Given the description of an element on the screen output the (x, y) to click on. 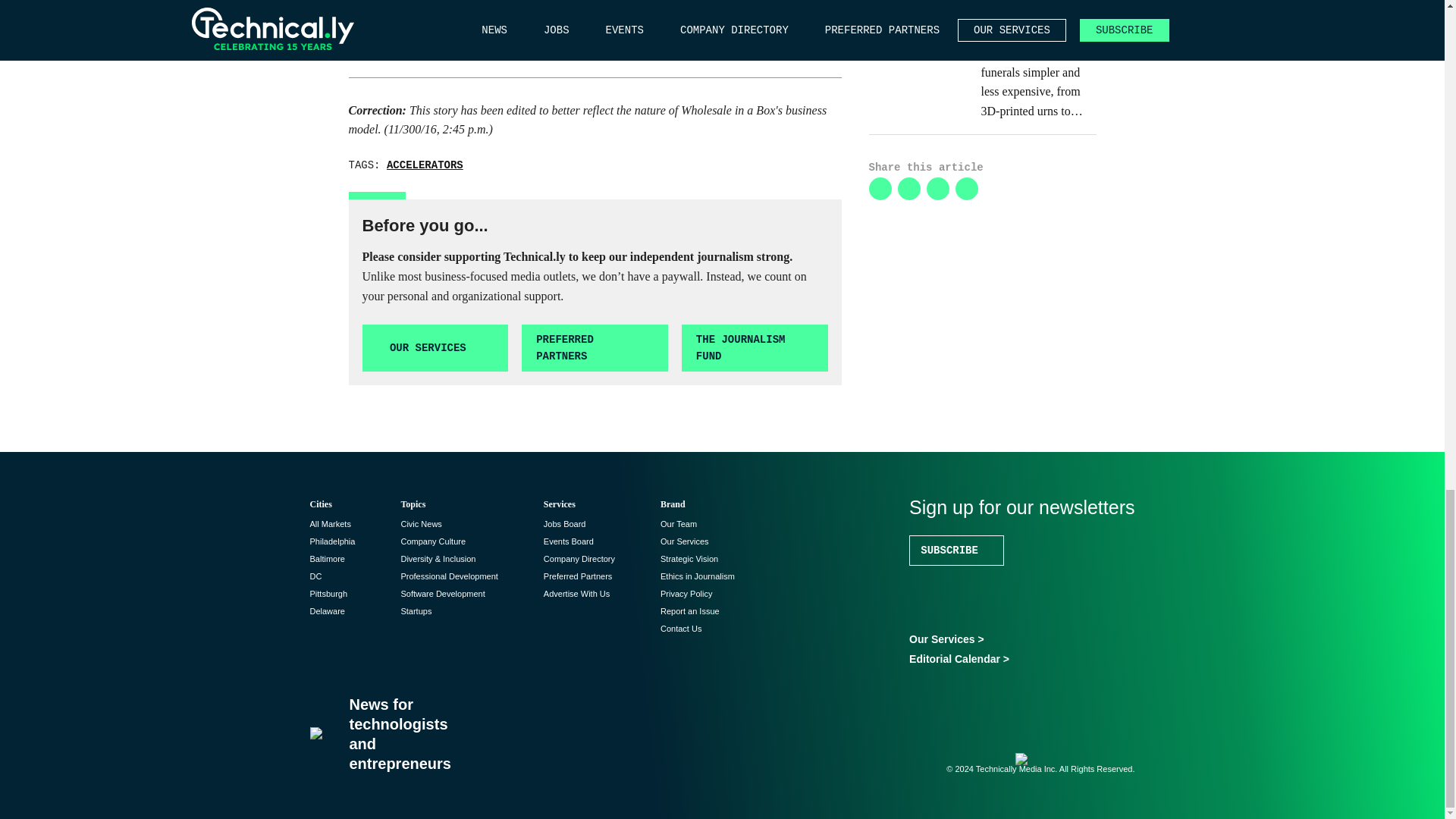
Share to LinkedIn (880, 188)
Share to Twitter (909, 188)
terms (438, 48)
ACCELERATORS (425, 164)
THE JOURNALISM FUND (754, 348)
OUR SERVICES (435, 348)
Share to Facebook (937, 188)
Puerto Rico Science Technology and Research Trust (592, 19)
Share via Email (966, 188)
